Given the description of an element on the screen output the (x, y) to click on. 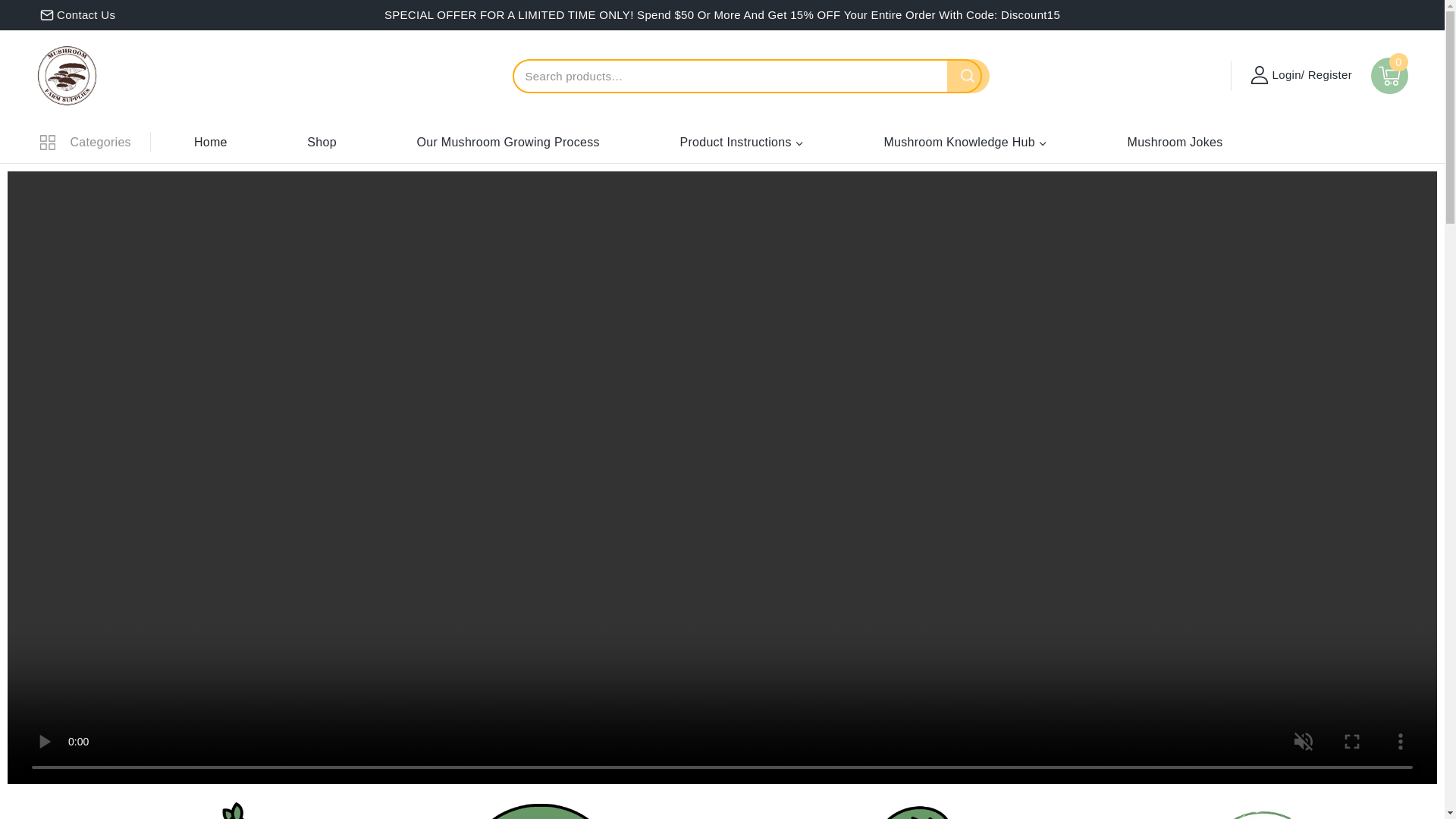
Shop (321, 141)
Contact Us (77, 14)
Account (1259, 74)
Home (541, 809)
Search (968, 75)
Home (1264, 809)
Mushroom Jokes (1175, 141)
Home (179, 809)
0 (1389, 76)
Home (902, 809)
Categories (85, 142)
Home (210, 141)
Product Instructions (741, 141)
Our Mushroom Growing Process (507, 141)
Mushroom Knowledge Hub (965, 141)
